Given the description of an element on the screen output the (x, y) to click on. 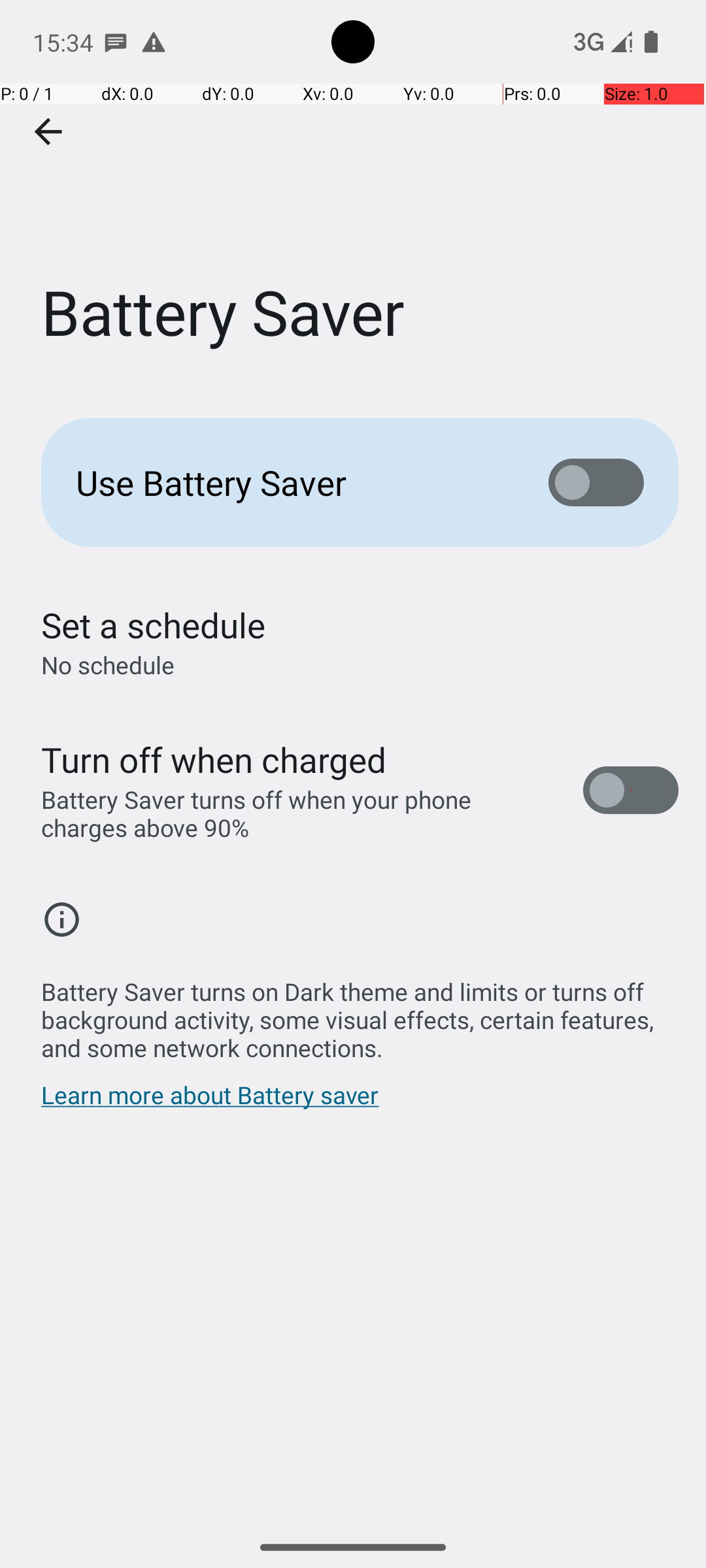
Battery Saver Element type: android.widget.FrameLayout (353, 195)
Use Battery Saver Element type: android.widget.TextView (291, 482)
Set a schedule Element type: android.widget.TextView (153, 624)
No schedule Element type: android.widget.TextView (107, 664)
Turn off when charged Element type: android.widget.TextView (213, 759)
Battery Saver turns off when your phone charges above 90% Element type: android.widget.TextView (298, 813)
Battery Saver turns on Dark theme and limits or turns off background activity, some visual effects, certain features, and some network connections. Element type: android.widget.TextView (359, 1012)
Learn more about Battery saver Element type: android.widget.TextView (210, 1101)
